Given the description of an element on the screen output the (x, y) to click on. 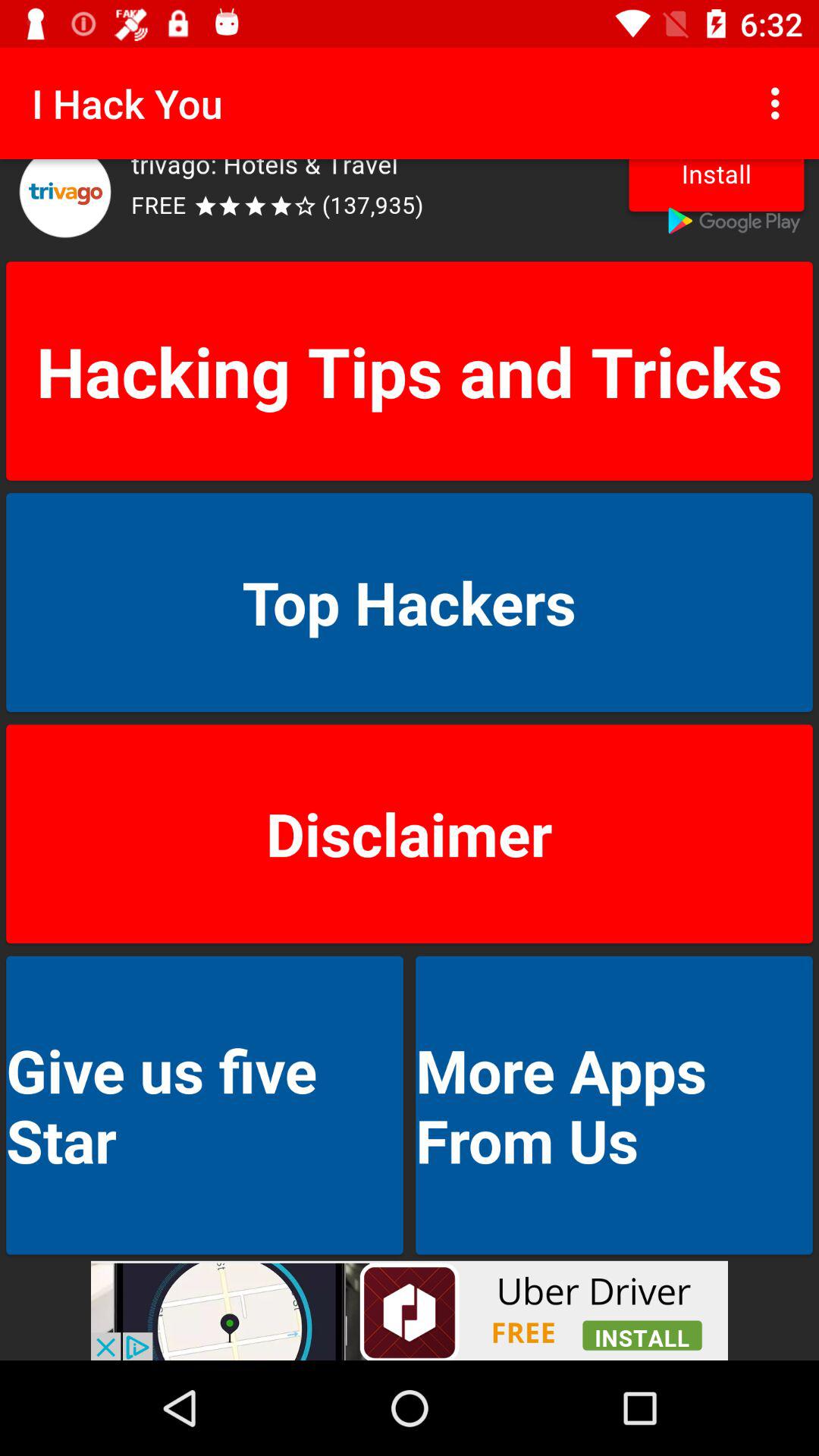
advertizement (409, 1310)
